Given the description of an element on the screen output the (x, y) to click on. 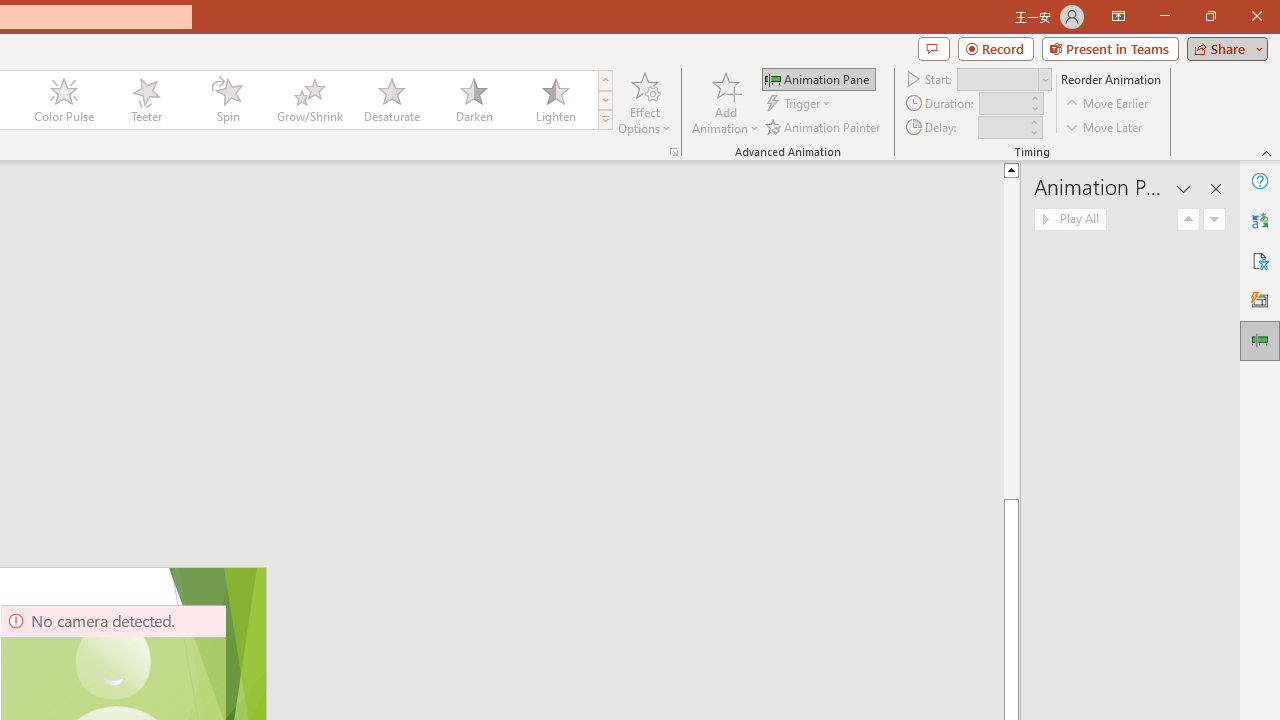
Less (1033, 132)
Grow/Shrink (309, 100)
Darken (473, 100)
Animation Pane (1260, 340)
Move Later (1105, 126)
Trigger (799, 103)
Effect Options (644, 102)
Teeter (145, 100)
Animation Pane (818, 78)
